Given the description of an element on the screen output the (x, y) to click on. 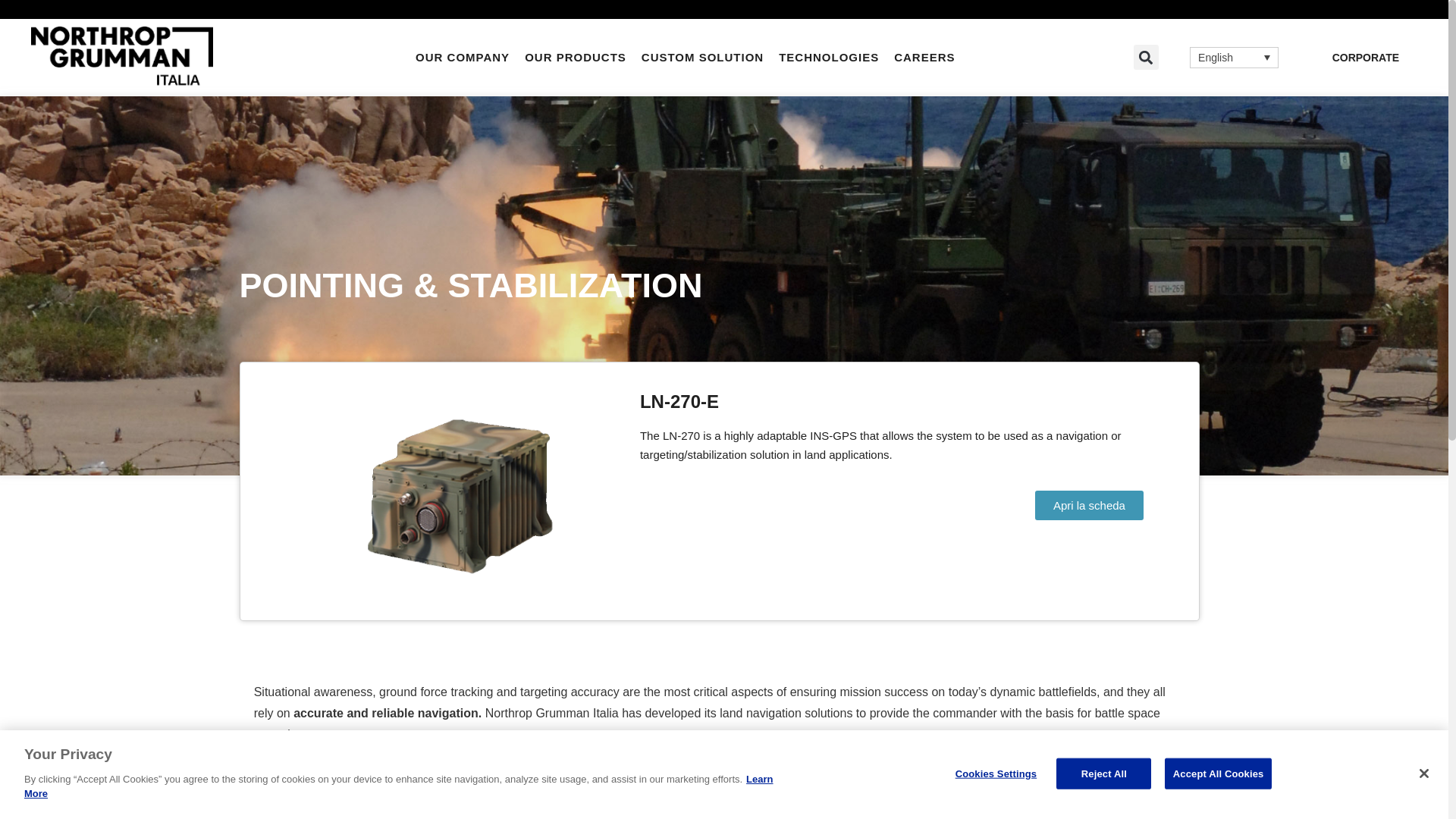
LN-270 (460, 491)
